Given the description of an element on the screen output the (x, y) to click on. 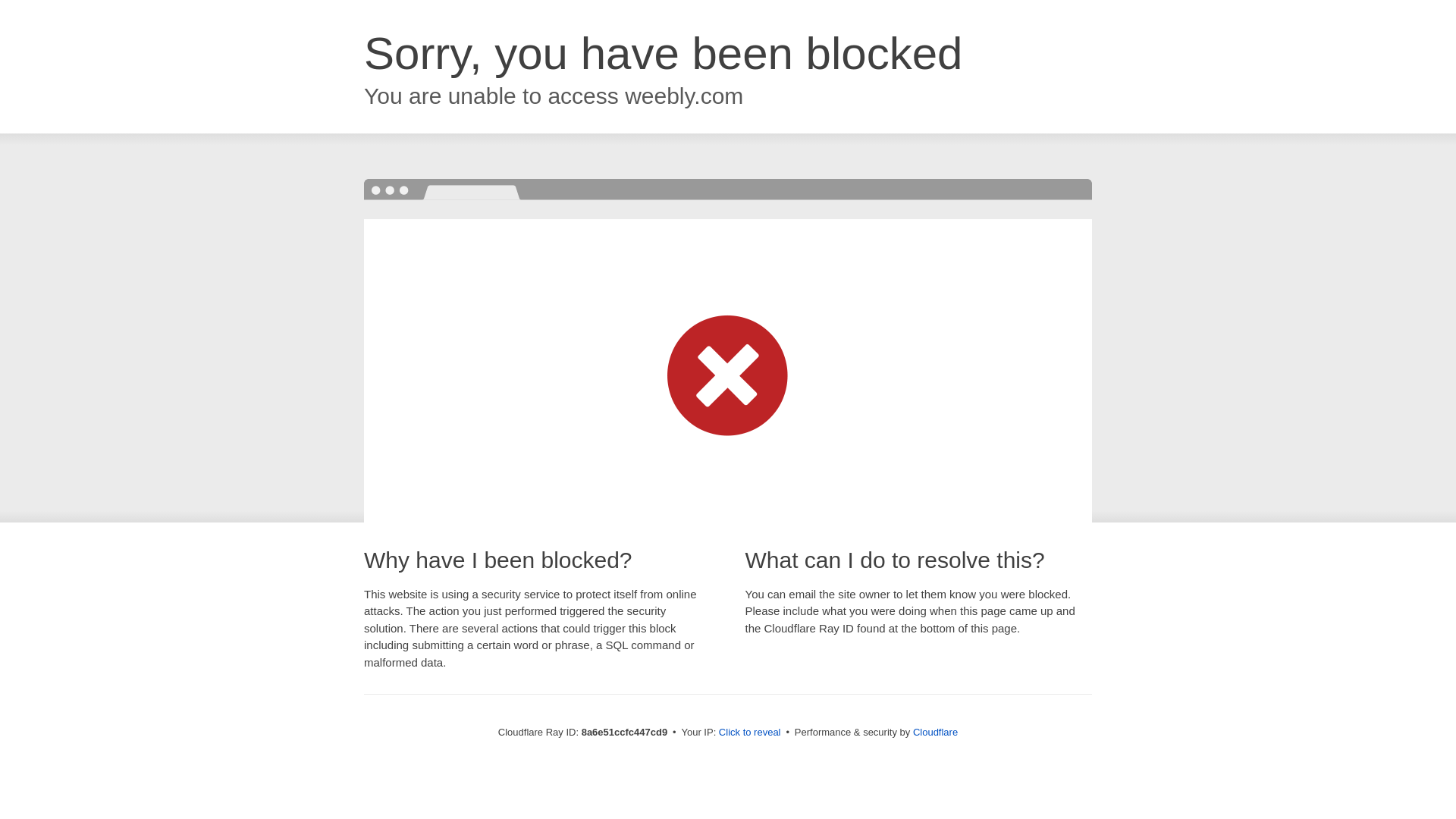
Click to reveal (749, 732)
Cloudflare (935, 731)
